Given the description of an element on the screen output the (x, y) to click on. 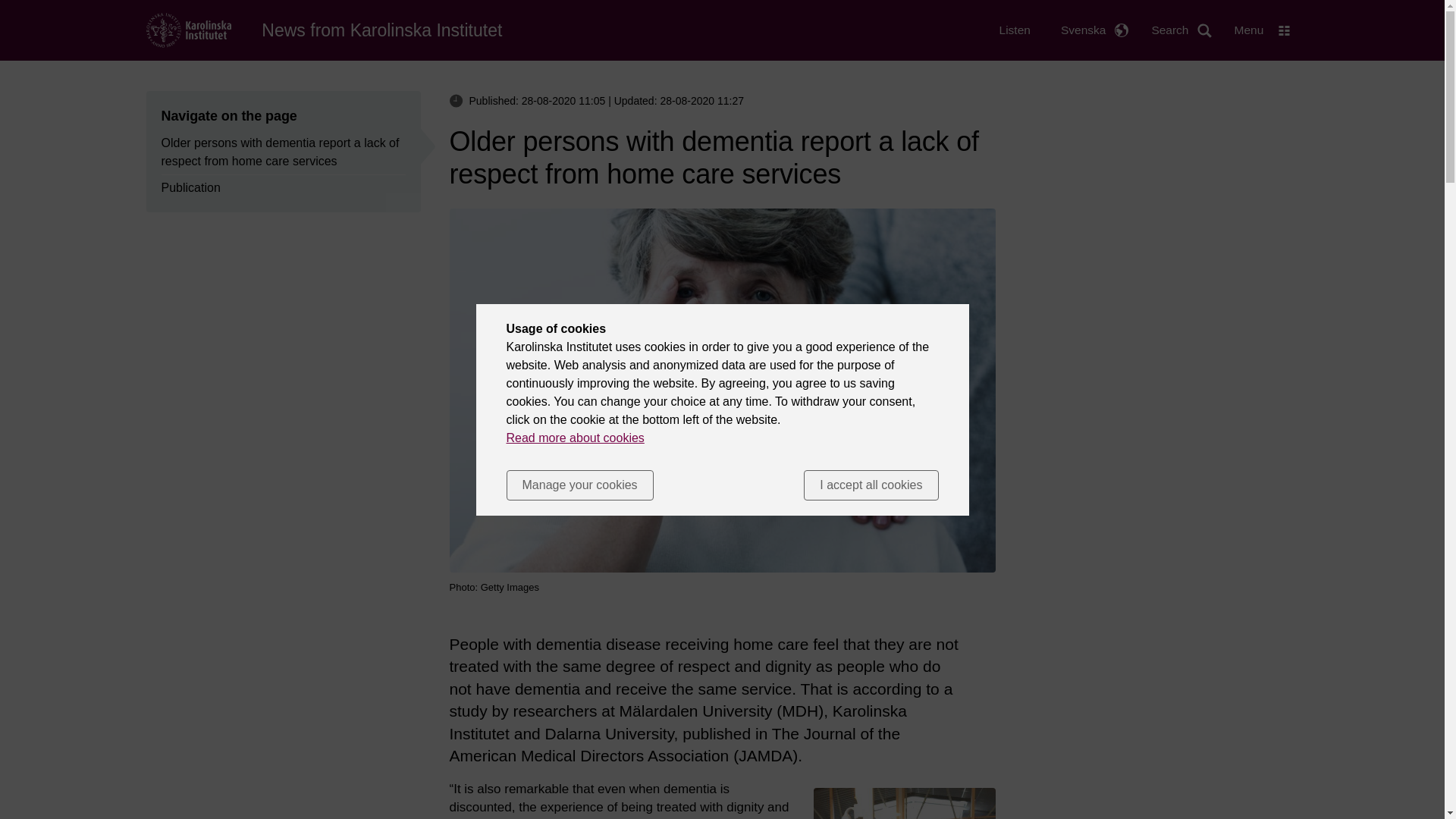
Publication (189, 188)
Listen (1014, 30)
News from Karolinska Institutet (382, 30)
Home (188, 29)
Home (382, 30)
